Given the description of an element on the screen output the (x, y) to click on. 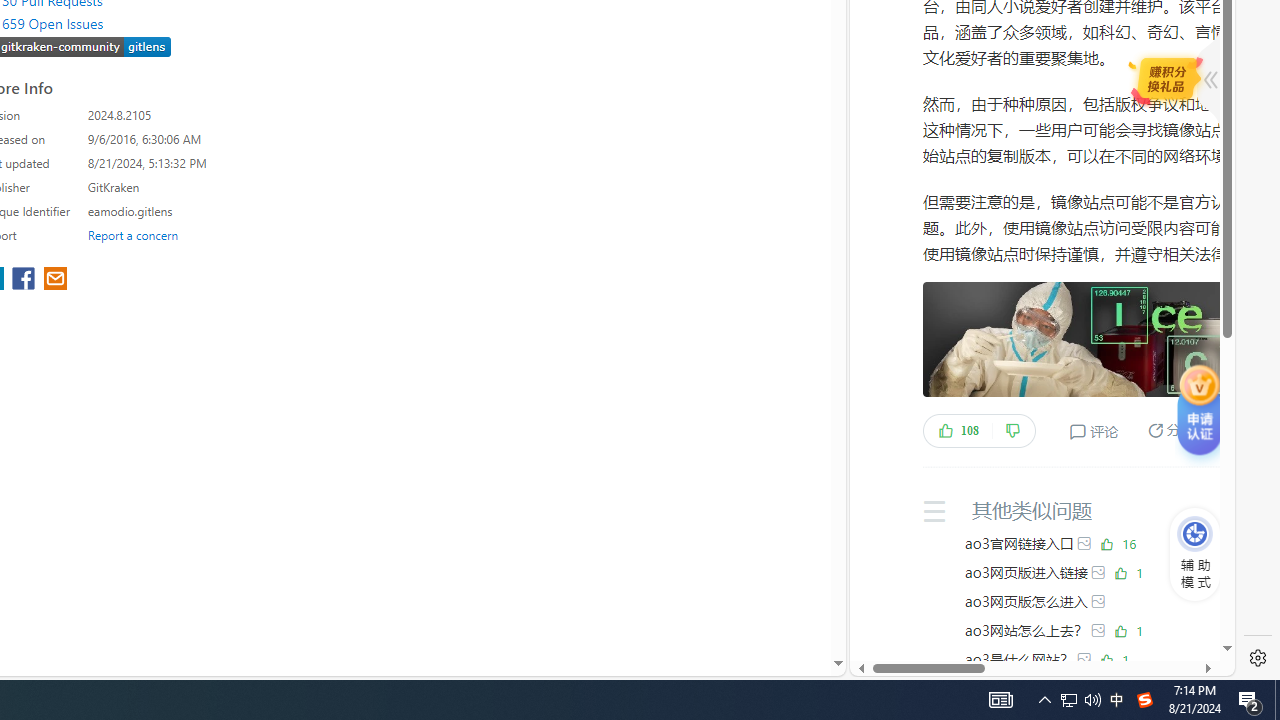
Class: task-list-button (1169, 78)
OFTV - Enjoy videos from your favorite OF creators! (1034, 604)
share extension on facebook (26, 280)
Class: jump-goto-star (1201, 416)
